Given the description of an element on the screen output the (x, y) to click on. 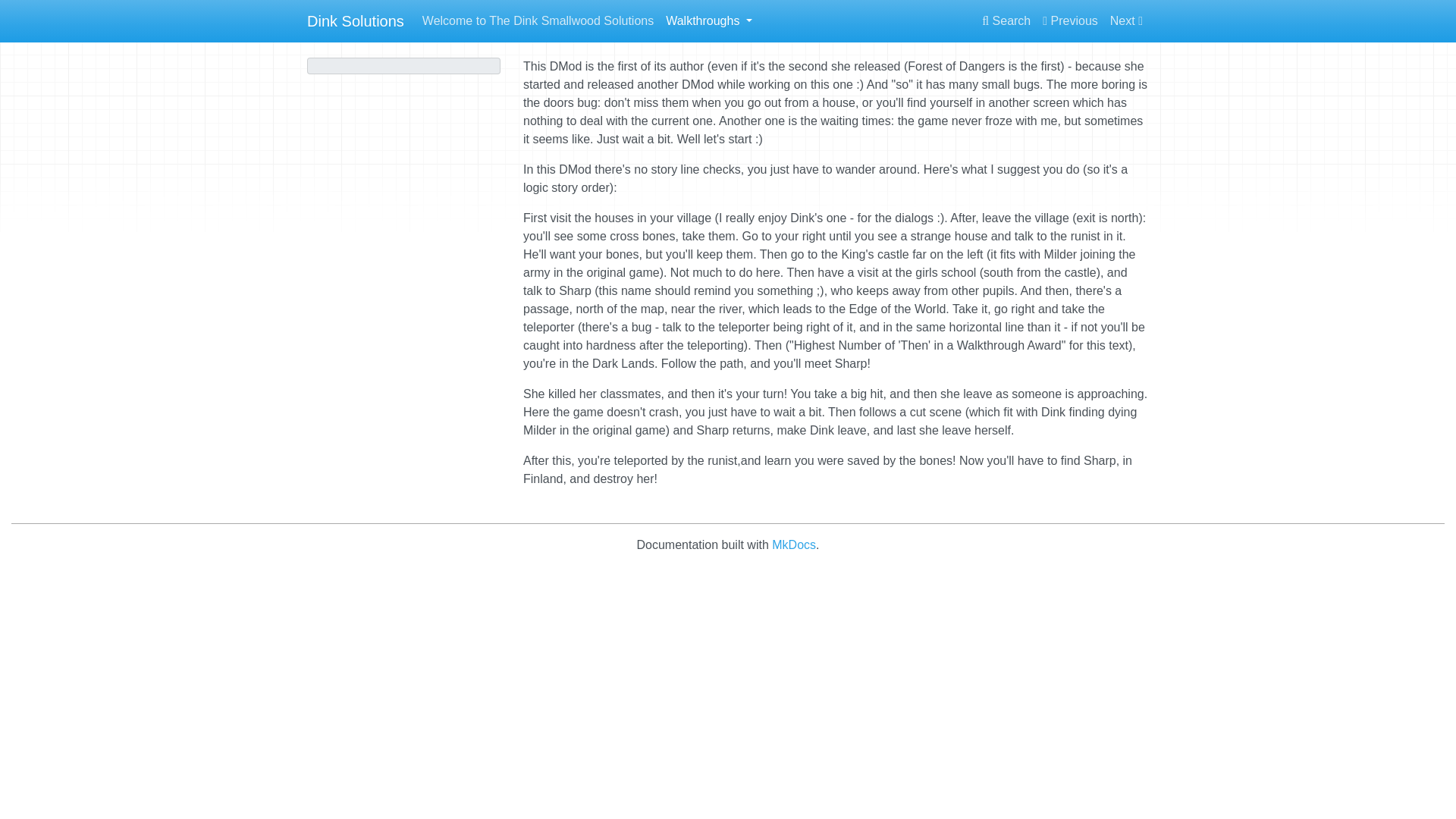
Dink Solutions (355, 20)
Welcome to The Dink Smallwood Solutions (537, 20)
Walkthroughs (708, 20)
